Given the description of an element on the screen output the (x, y) to click on. 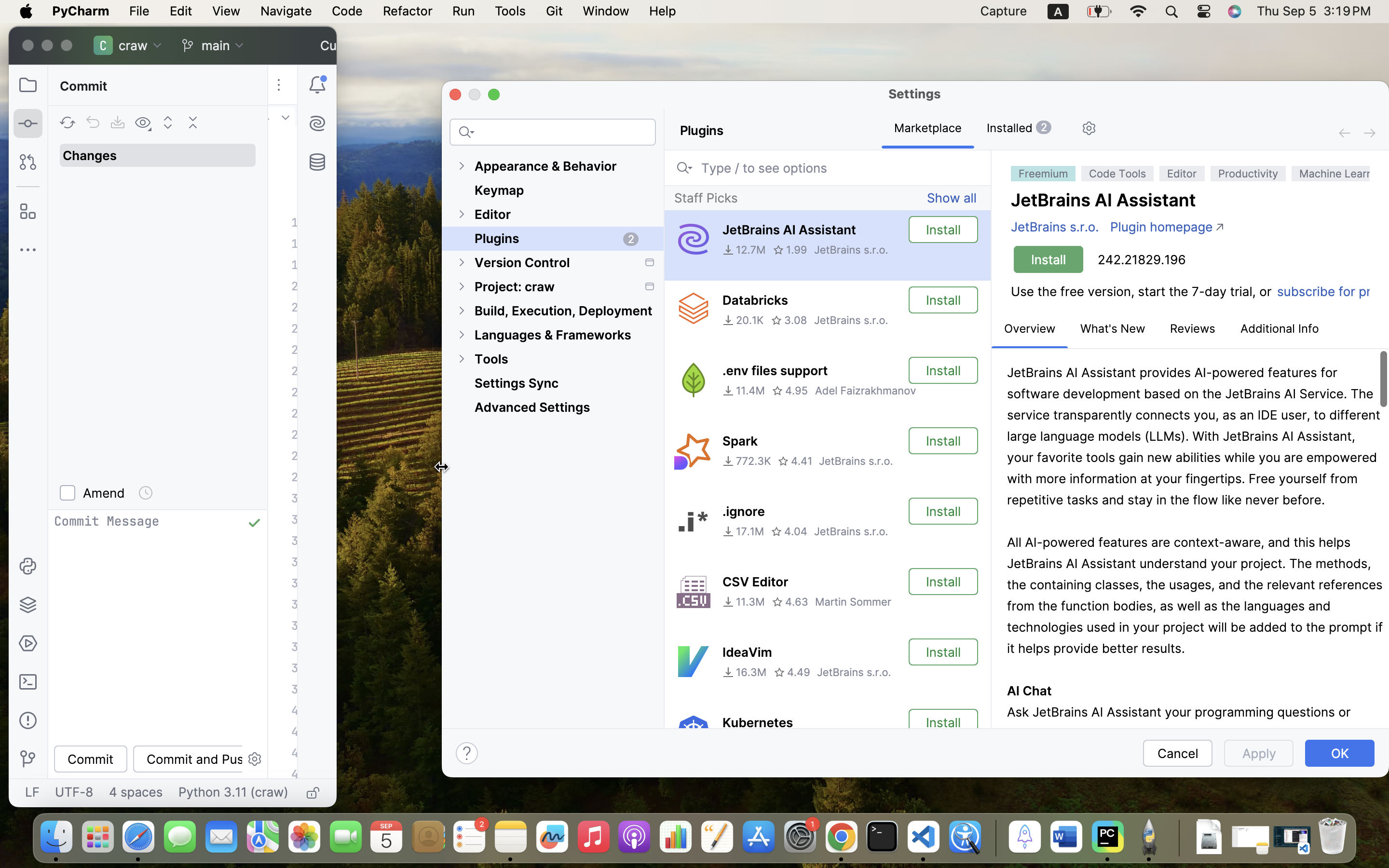
0 Element type: AXOutline (552, 441)
6.7M Element type: AXStaticText (741, 742)
0 Element type: AXGroup (1190, 438)
11.3M Element type: AXStaticText (743, 601)
Settings Element type: AXStaticText (914, 93)
